Given the description of an element on the screen output the (x, y) to click on. 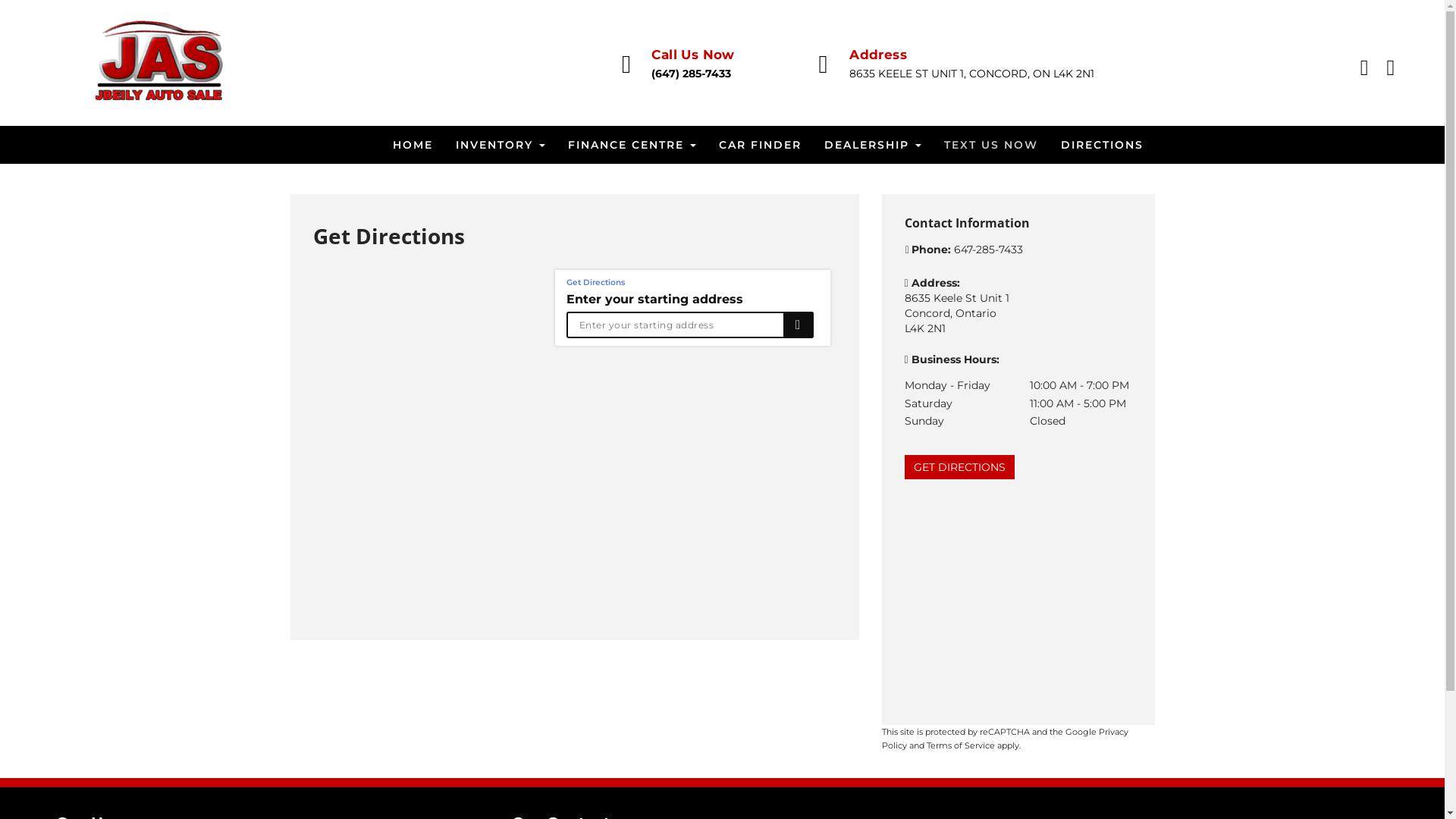
Privacy Policy Element type: text (1004, 738)
8635 KEELE ST UNIT 1, CONCORD, ON L4K 2N1 Element type: text (971, 73)
Terms of Service Element type: text (960, 745)
HOME Element type: text (411, 144)
GET DIRECTIONS Element type: text (958, 467)
DIRECTIONS Element type: text (1101, 144)
DEALERSHIP Element type: text (872, 144)
CAR FINDER Element type: text (759, 144)
(647) 285-7433 Element type: text (691, 73)
INVENTORY Element type: text (500, 144)
TEXT US NOW Element type: text (990, 144)
FINANCE CENTRE Element type: text (631, 144)
